Given the description of an element on the screen output the (x, y) to click on. 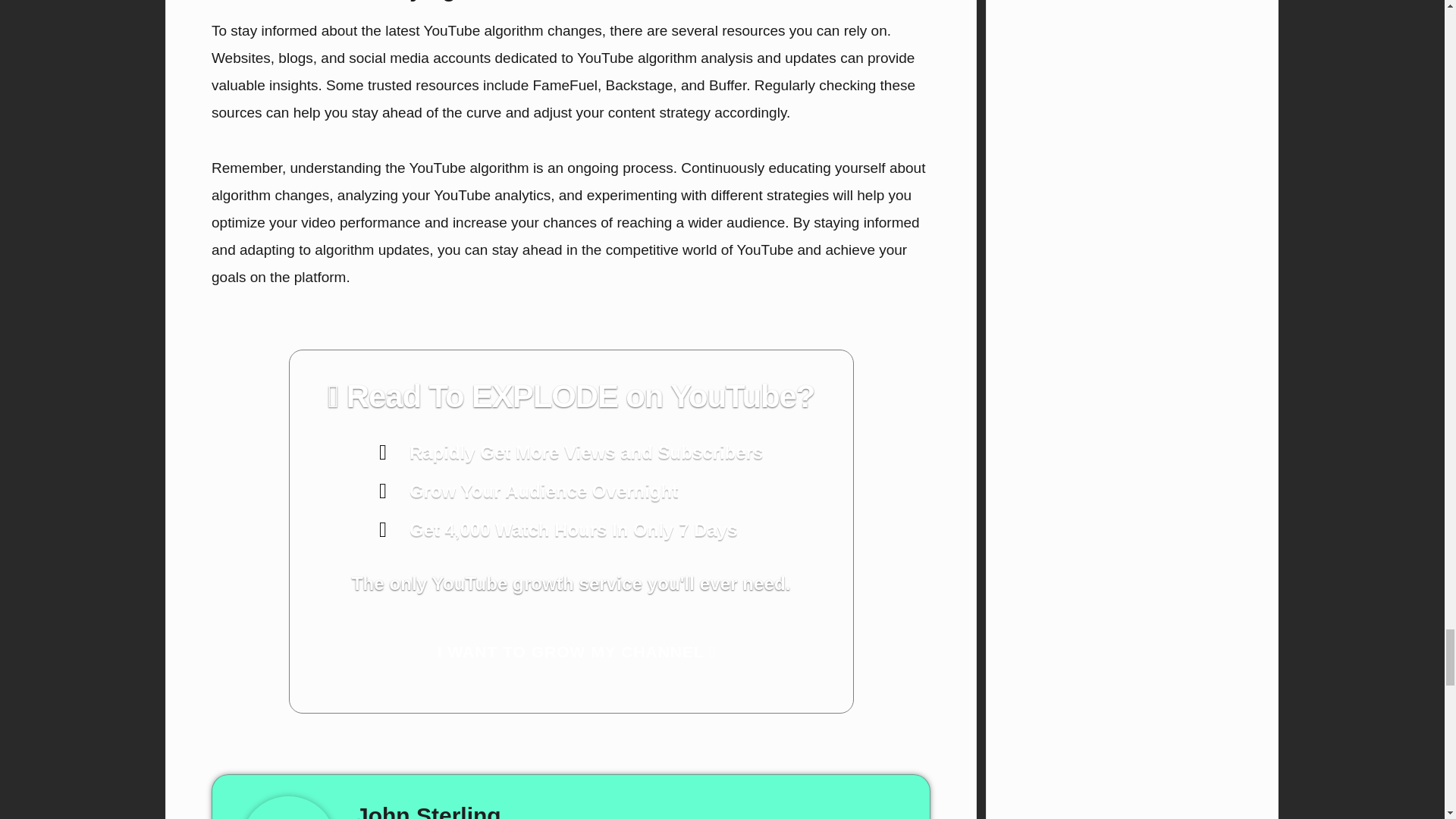
I WANT TO GROW MY CHANNEL (571, 652)
Buffer (727, 84)
YouTube analytics (491, 195)
FameFuel (565, 84)
Backstage (638, 84)
